Given the description of an element on the screen output the (x, y) to click on. 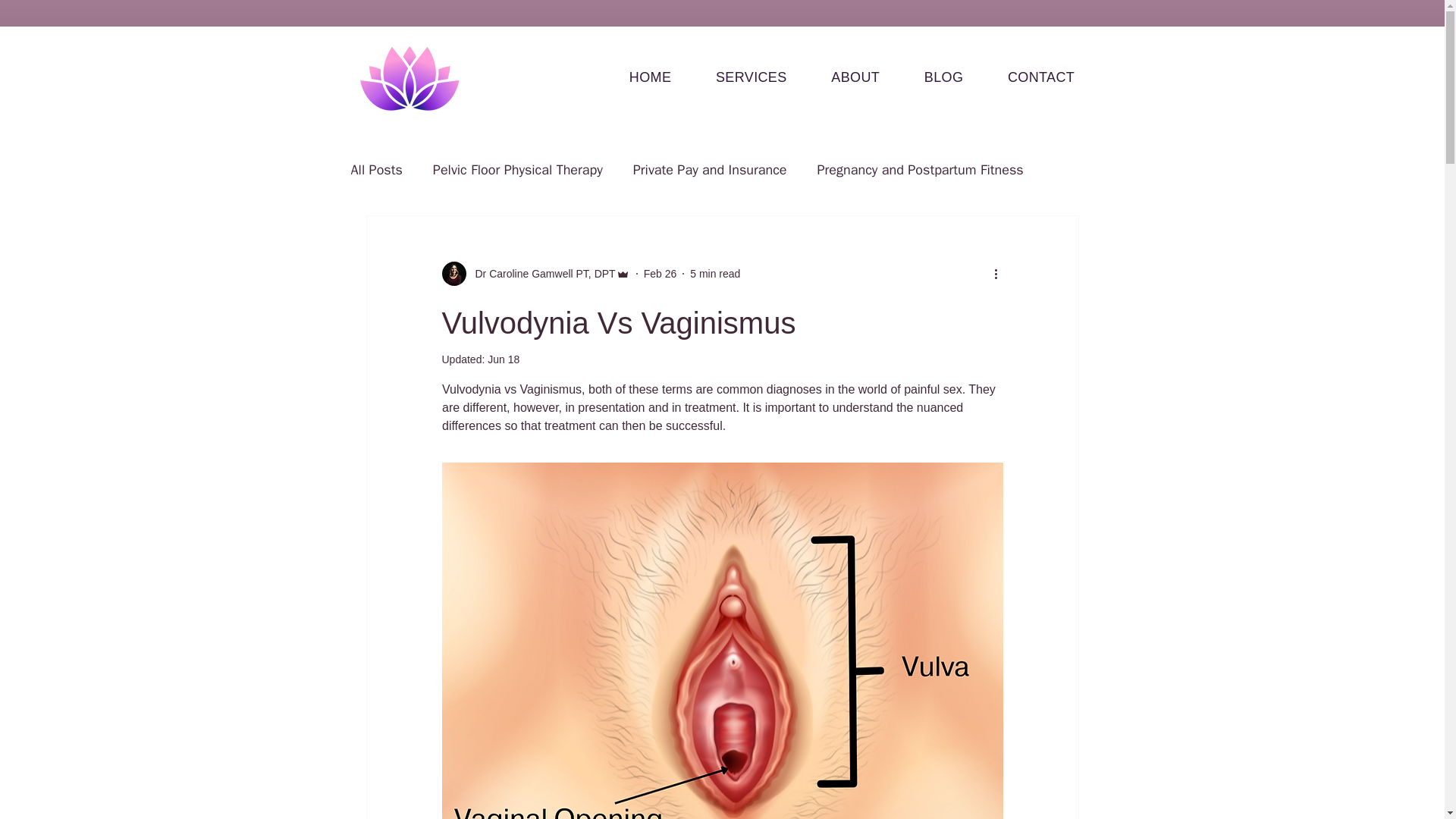
CONTACT (1041, 77)
Dr Caroline Gamwell PT, DPT (534, 273)
ABOUT (855, 77)
Private Pay and Insurance (710, 169)
SERVICES (751, 77)
All Posts (375, 169)
Dr Caroline Gamwell PT, DPT (539, 273)
BLOG (942, 77)
Pregnancy and Postpartum Fitness (919, 169)
Feb 26 (660, 272)
